Given the description of an element on the screen output the (x, y) to click on. 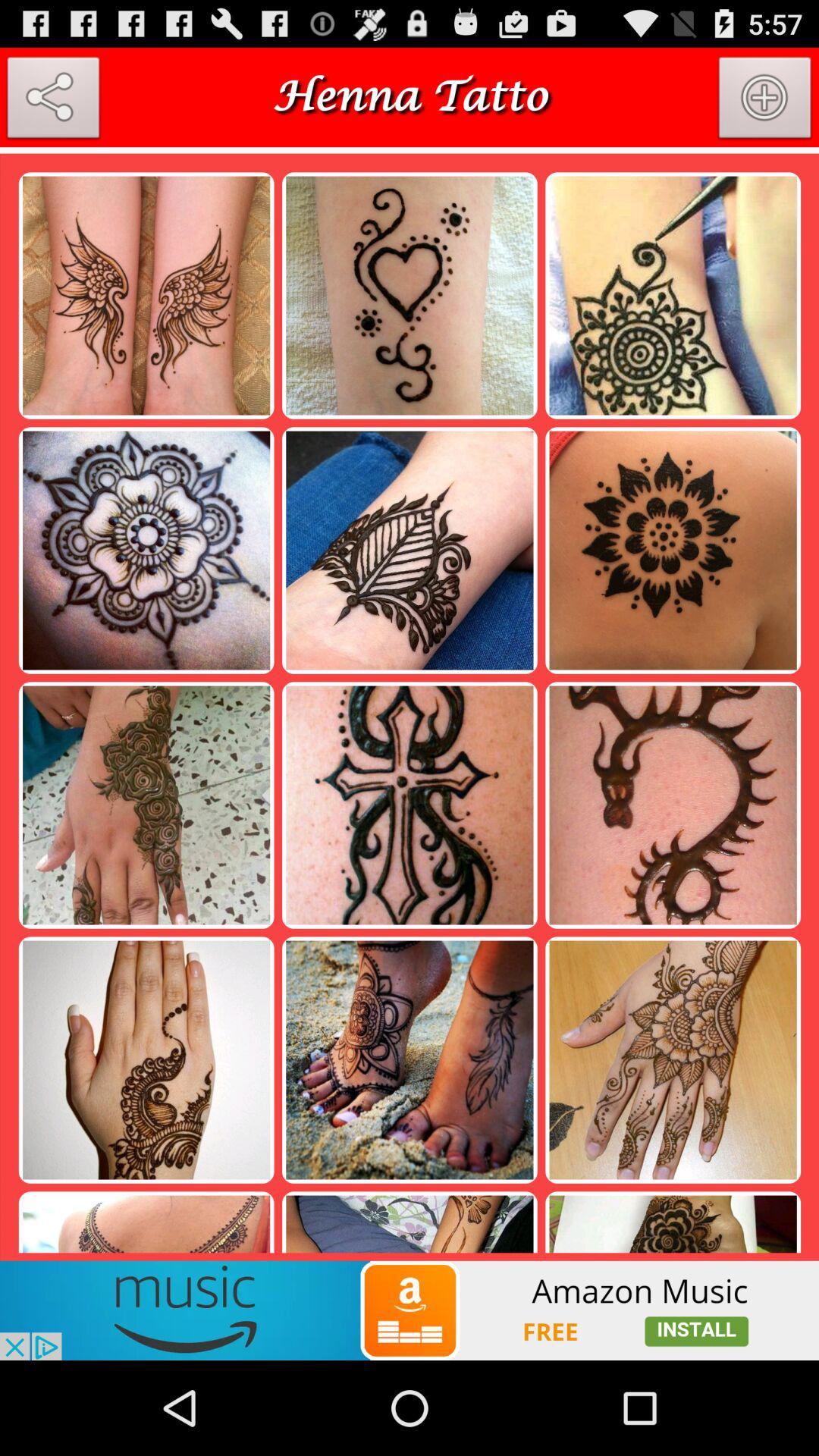
videos of mehndi designs tutorial that how to make mehndi designs easily (409, 1310)
